Given the description of an element on the screen output the (x, y) to click on. 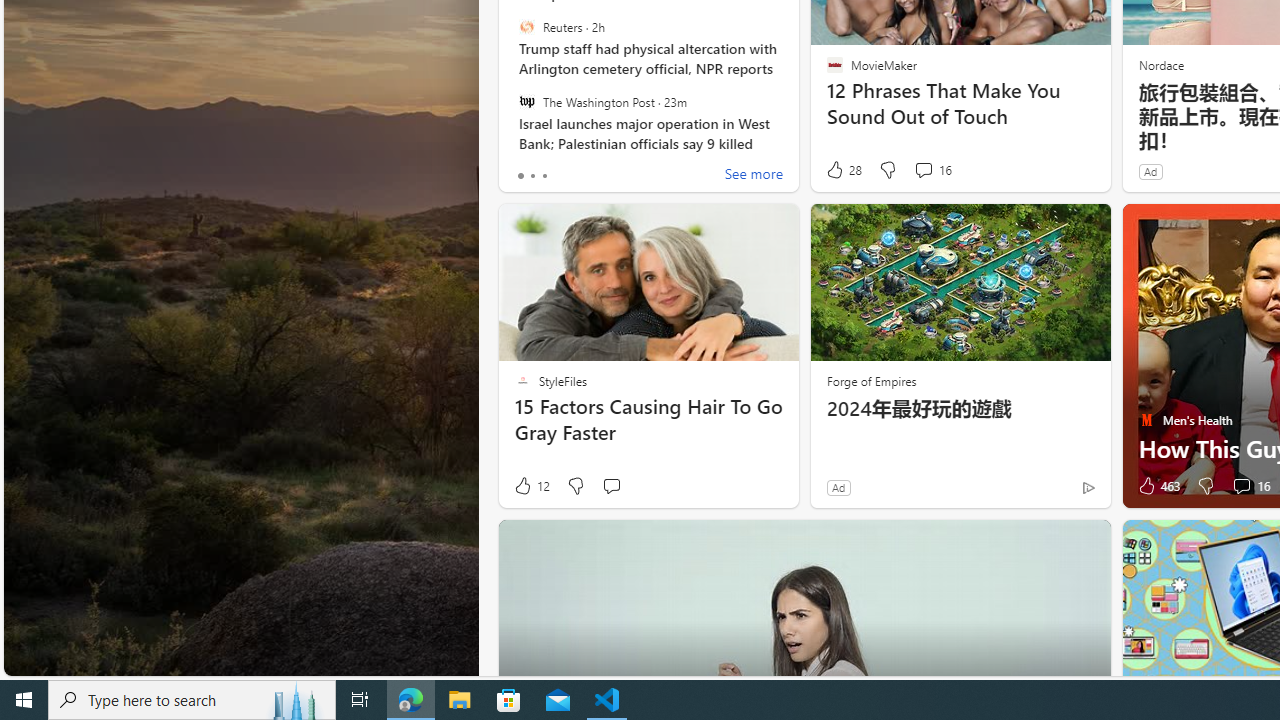
Start the conversation (610, 485)
12 Like (531, 485)
28 Like (843, 170)
Reuters (526, 27)
tab-1 (532, 175)
